Given the description of an element on the screen output the (x, y) to click on. 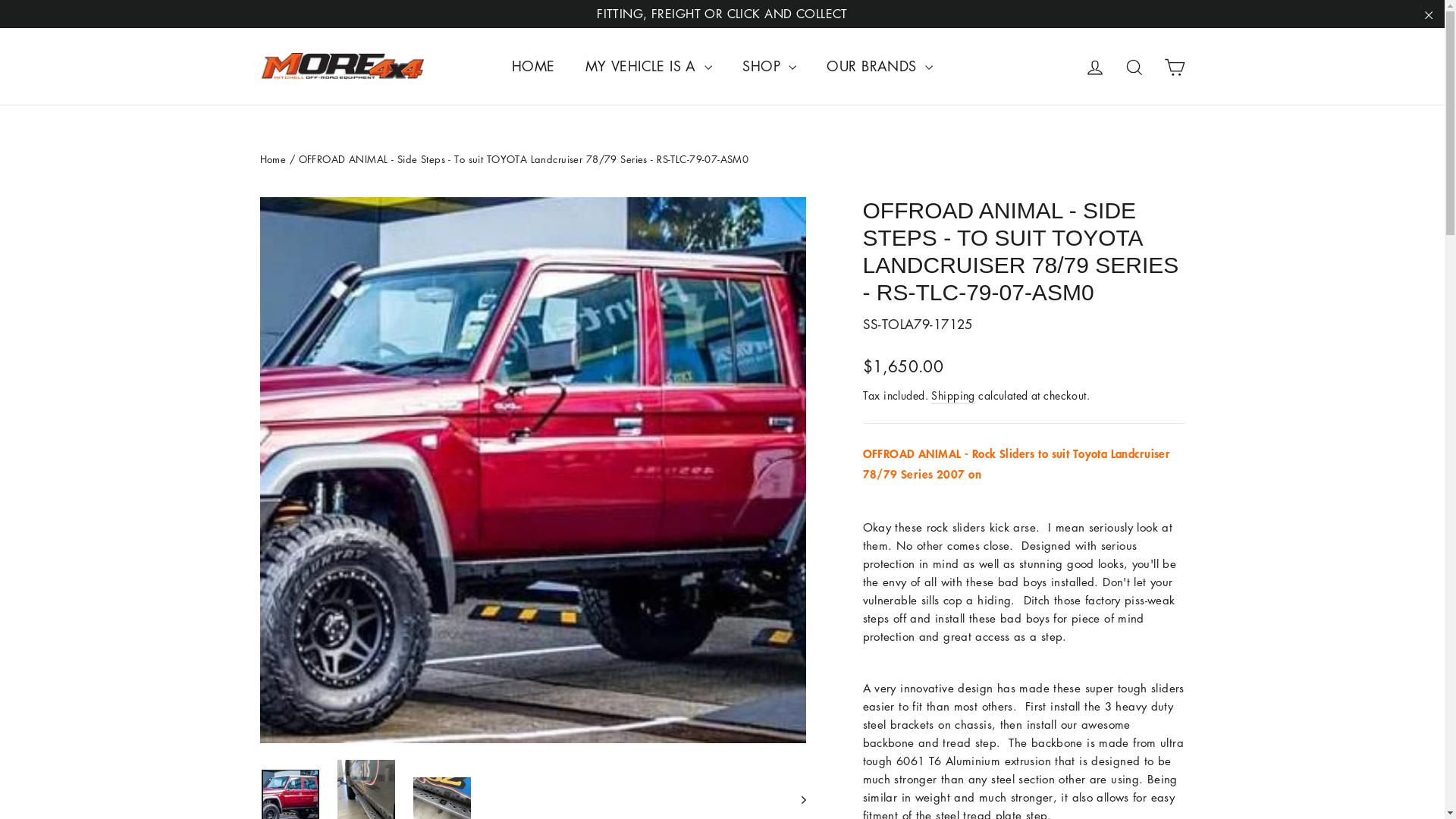
Cart Element type: text (1173, 65)
MY VEHICLE IS A Element type: text (649, 65)
HOME Element type: text (533, 65)
SHOP Element type: text (769, 65)
Search Element type: text (1134, 65)
"Close" Element type: text (1428, 13)
Home Element type: text (272, 158)
Log in Element type: text (1094, 65)
OUR BRANDS Element type: text (879, 65)
Shipping Element type: text (952, 395)
